Given the description of an element on the screen output the (x, y) to click on. 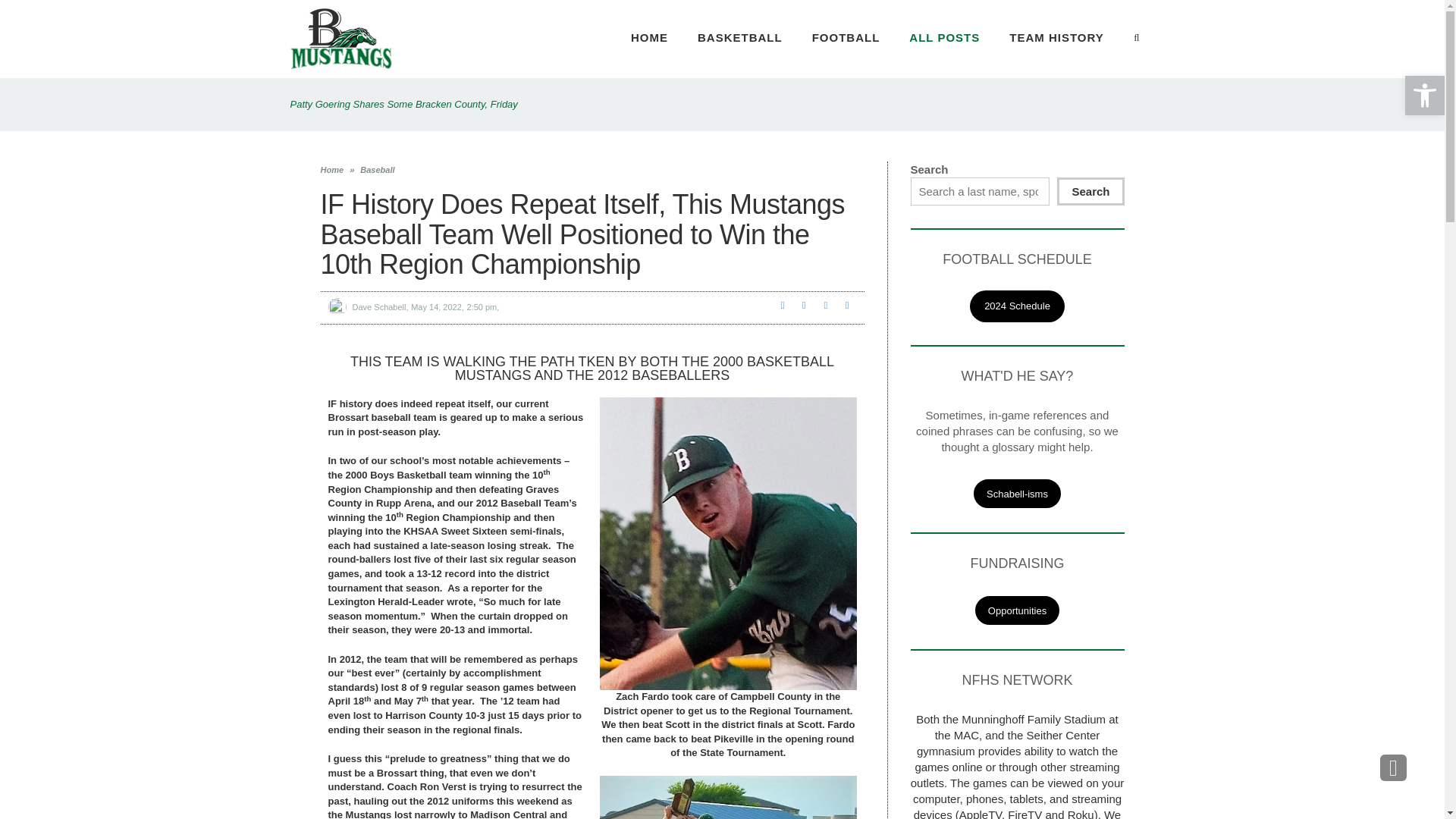
Patty Goering Shares Some Bracken County, Friday (402, 103)
BASKETBALL (740, 38)
ALL POSTS (943, 38)
Accessibility Tools (1424, 95)
Scroll to top (1393, 767)
TEAM HISTORY (1056, 38)
Scroll to top (1393, 767)
FOOTBALL (846, 38)
Scroll to top (1393, 767)
